Given the description of an element on the screen output the (x, y) to click on. 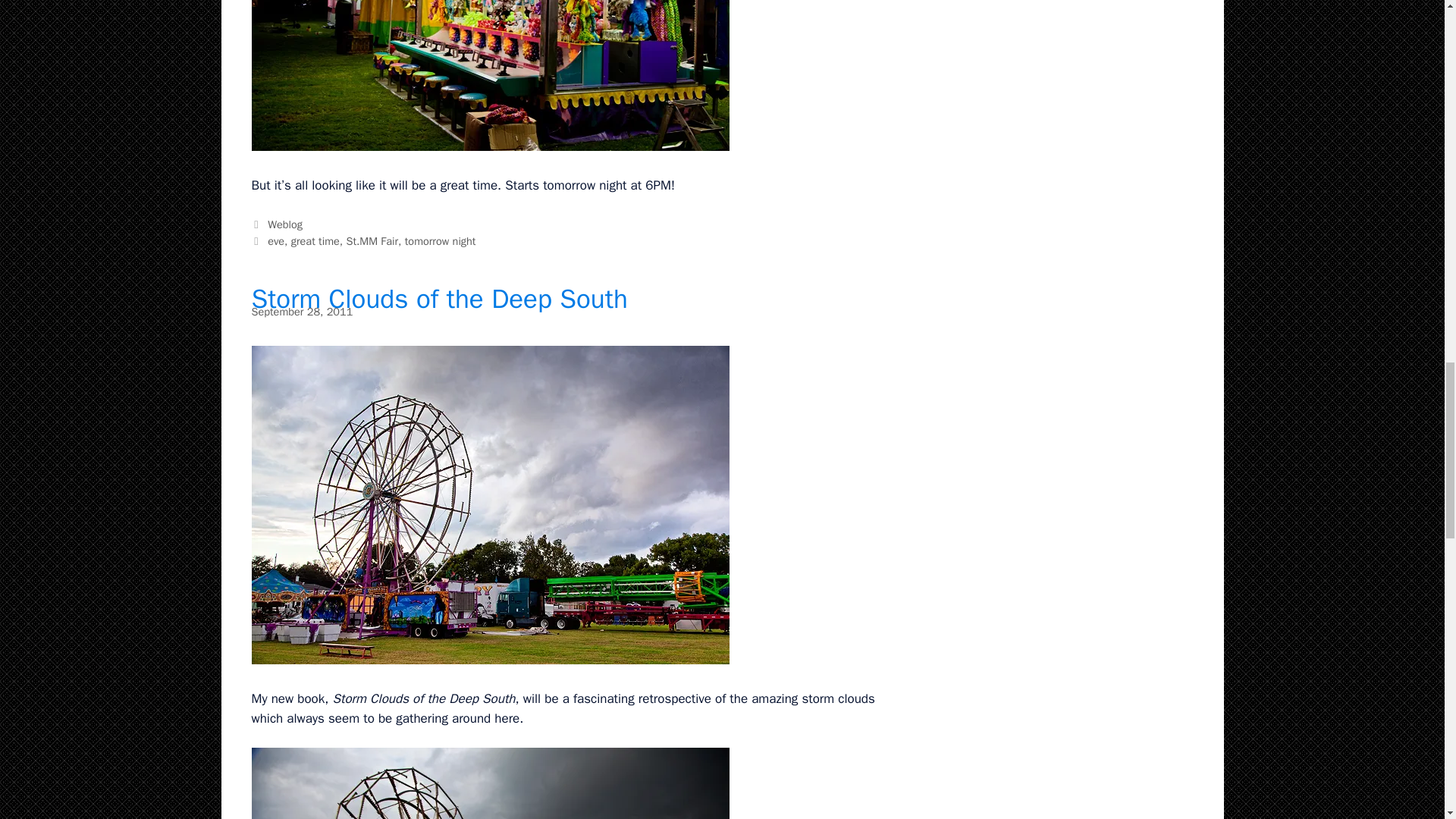
St.MM Fair (371, 241)
tomorrow night (440, 241)
Storm Clouds of the Deep South (439, 298)
Weblog (284, 223)
great time (315, 241)
setup3 (490, 783)
eve (275, 241)
